Given the description of an element on the screen output the (x, y) to click on. 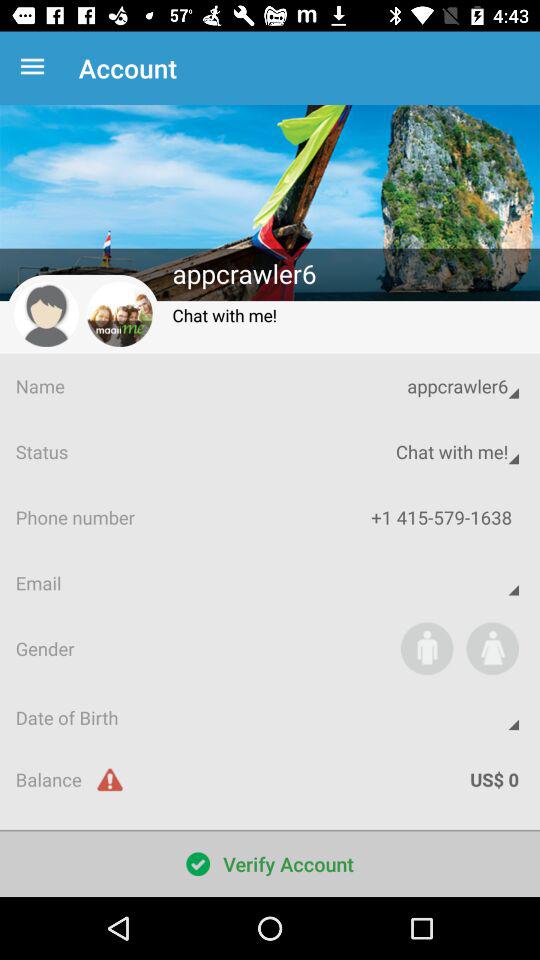
tap the item above the date of birth (492, 648)
